Given the description of an element on the screen output the (x, y) to click on. 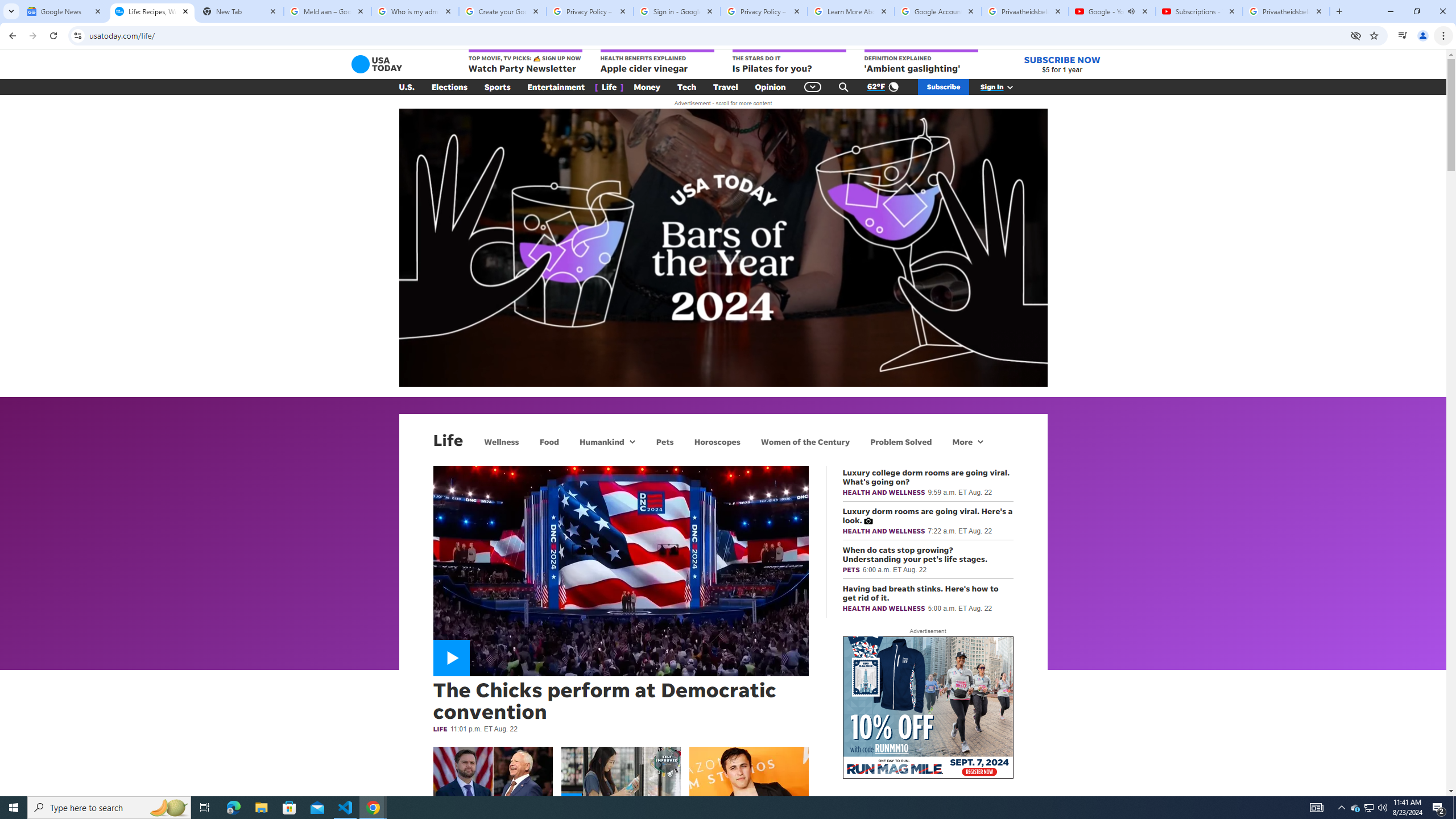
Wellness (501, 441)
New Tab (239, 11)
AutomationID: aw0 (928, 708)
Travel (725, 87)
DEFINITION EXPLAINED 'Ambient gaslighting' (920, 62)
Humankind (600, 441)
Google - YouTube - Audio playing (1111, 11)
Sign In (1002, 87)
